Given the description of an element on the screen output the (x, y) to click on. 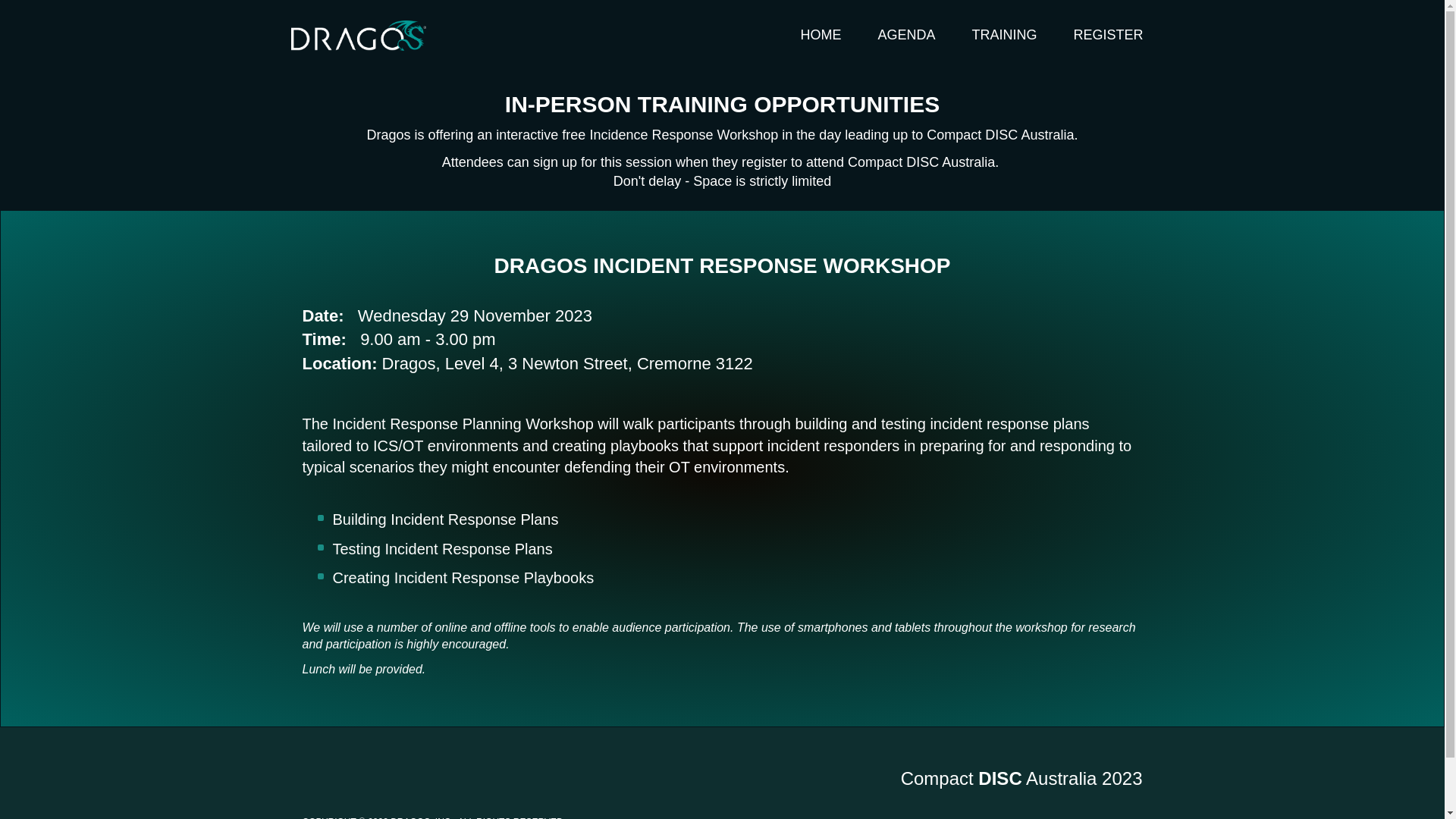
HOME (820, 35)
TRAINING (1003, 35)
REGISTER (1107, 35)
AGENDA (905, 35)
